Given the description of an element on the screen output the (x, y) to click on. 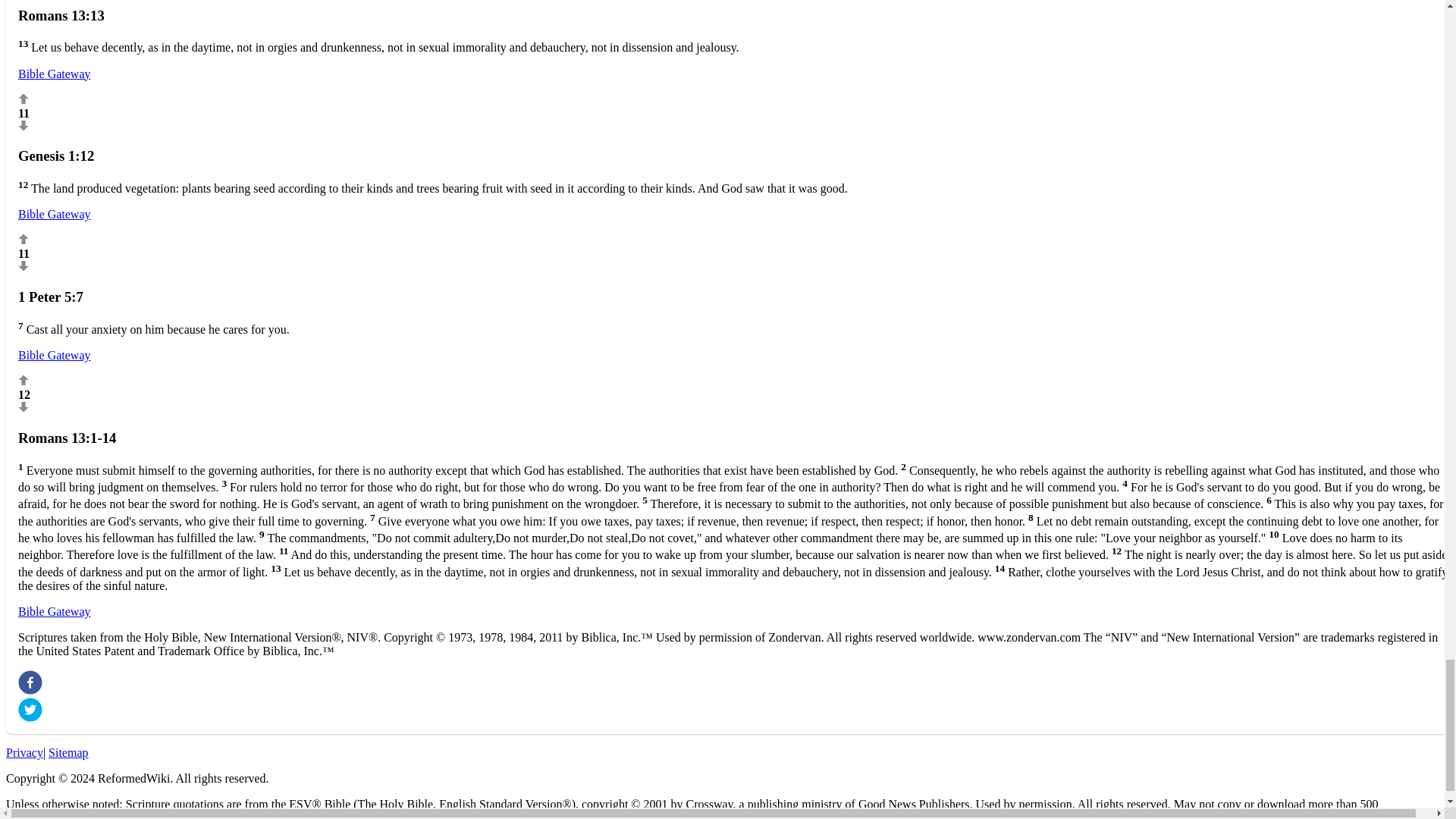
Bible Gateway (53, 214)
Bible Gateway (53, 73)
Bible Gateway (53, 611)
Bible Gateway (53, 354)
